Given the description of an element on the screen output the (x, y) to click on. 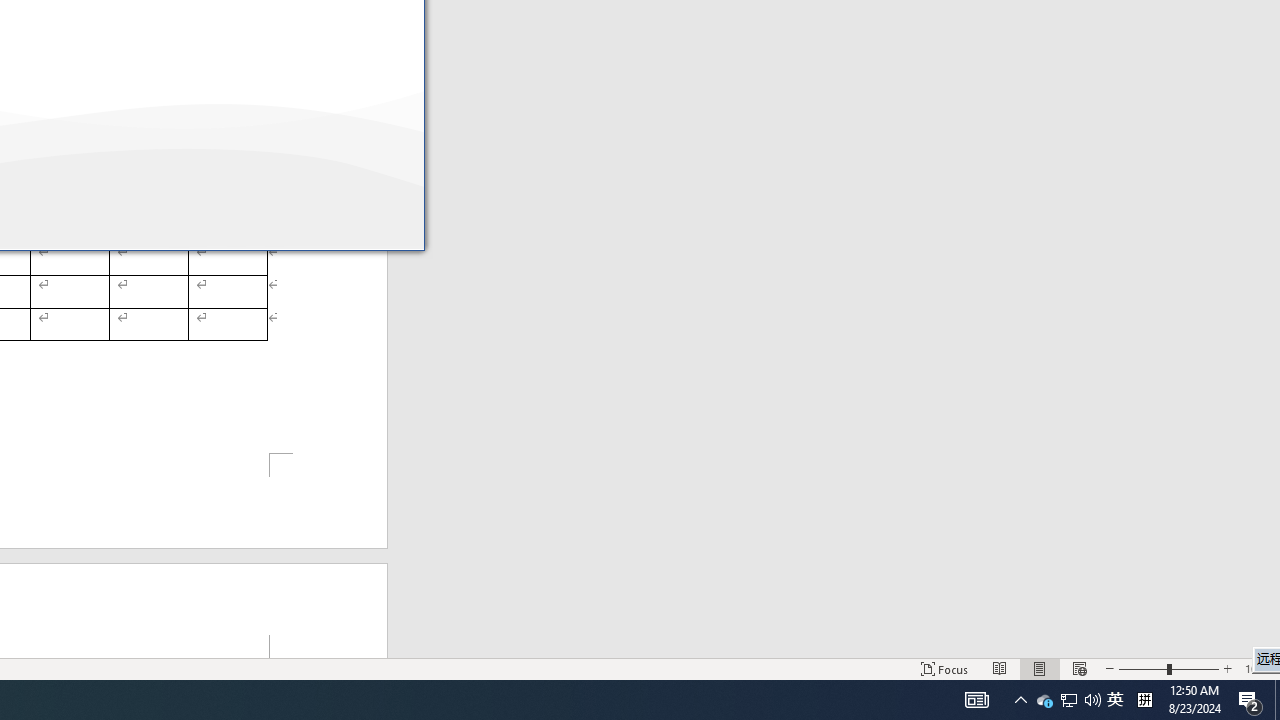
Tray Input Indicator - Chinese (Simplified, China) (1144, 699)
